Given the description of an element on the screen output the (x, y) to click on. 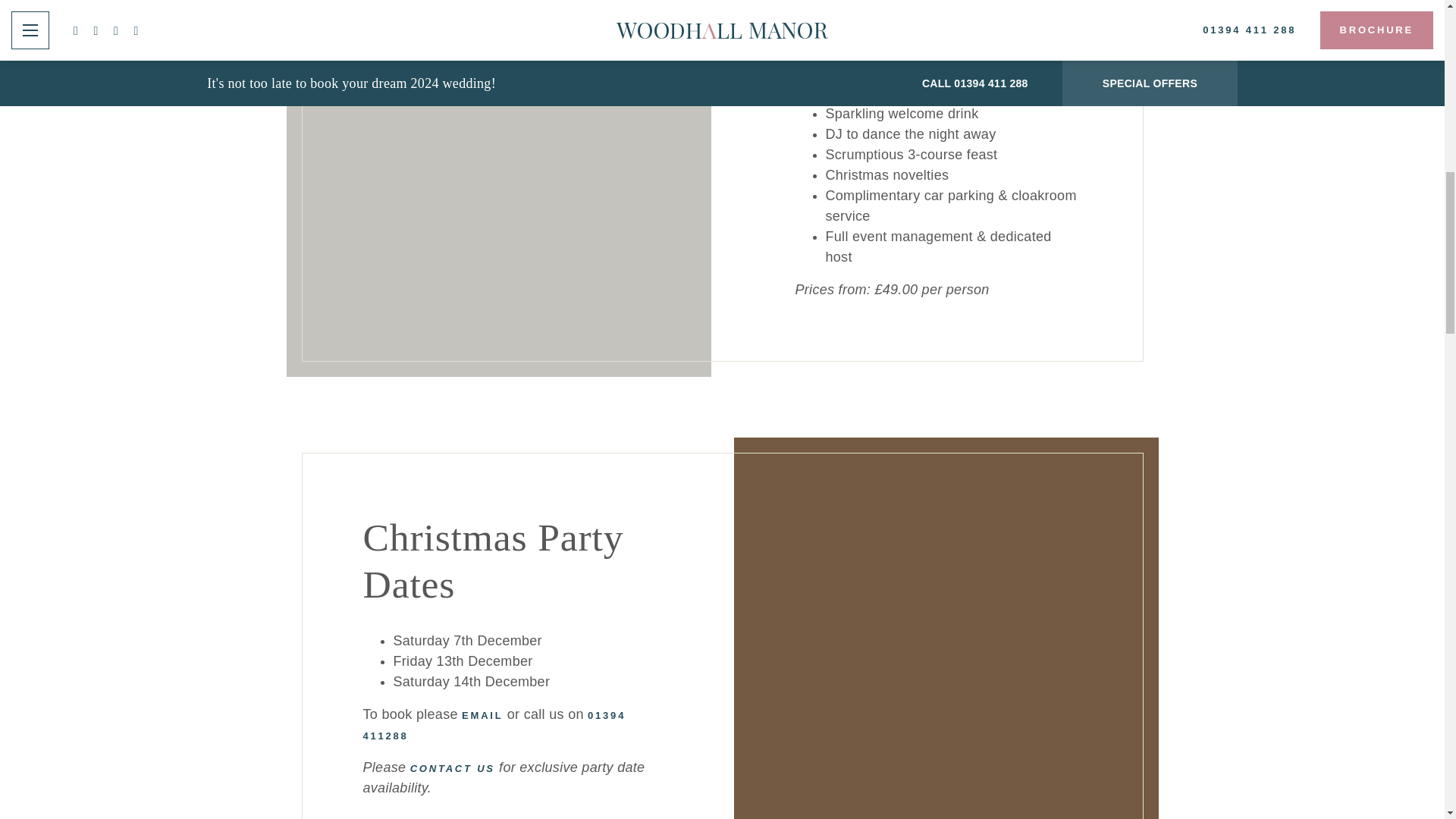
Page 3 (937, 175)
